Given the description of an element on the screen output the (x, y) to click on. 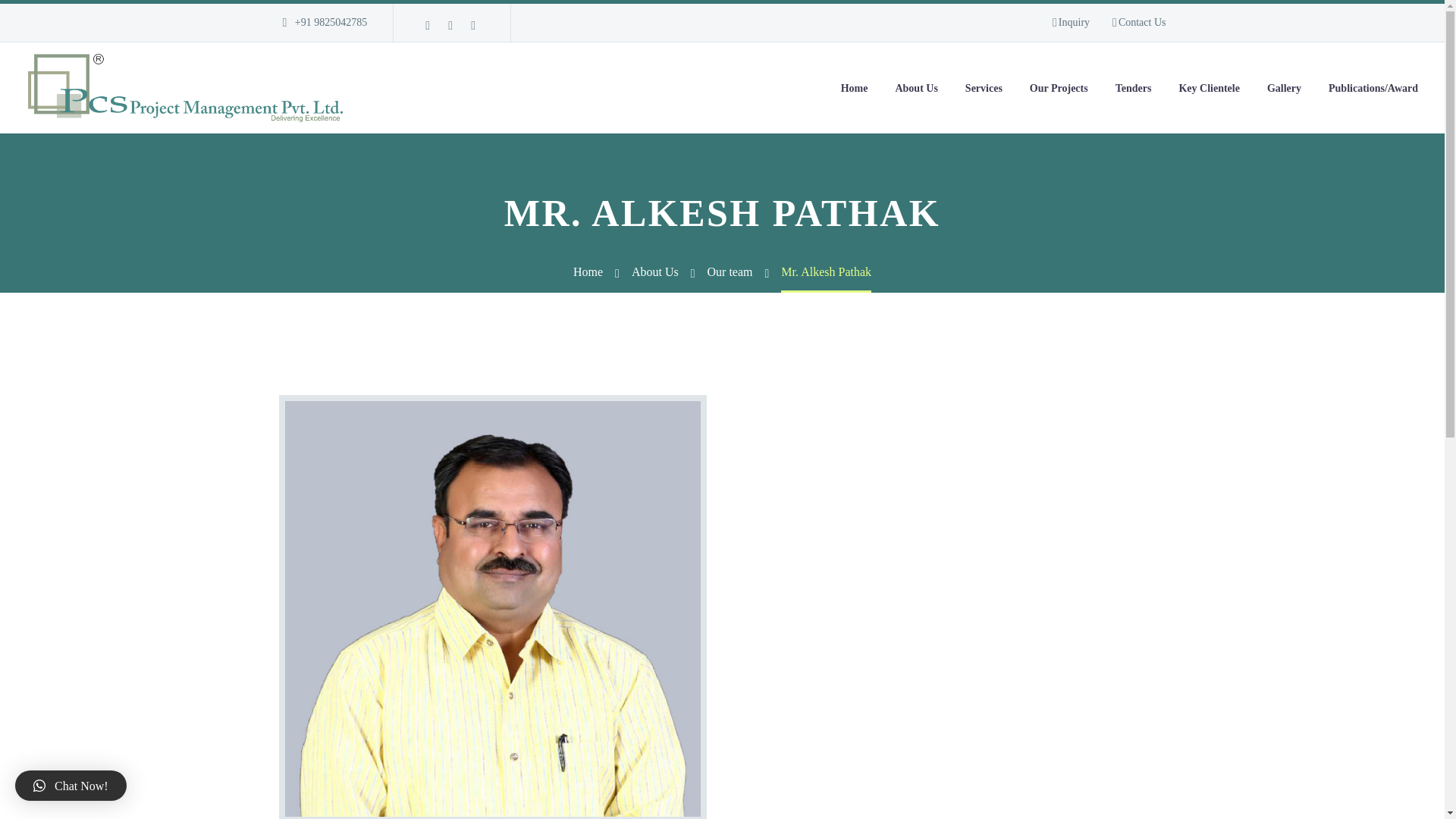
Gallery (1284, 87)
Home (854, 87)
Tenders (1133, 87)
About Us (916, 87)
LinkedIn (450, 25)
Services (983, 87)
Our Projects (1058, 87)
Inquiry (1070, 22)
Contact Us (1139, 22)
Key Clientele (1208, 87)
